Given the description of an element on the screen output the (x, y) to click on. 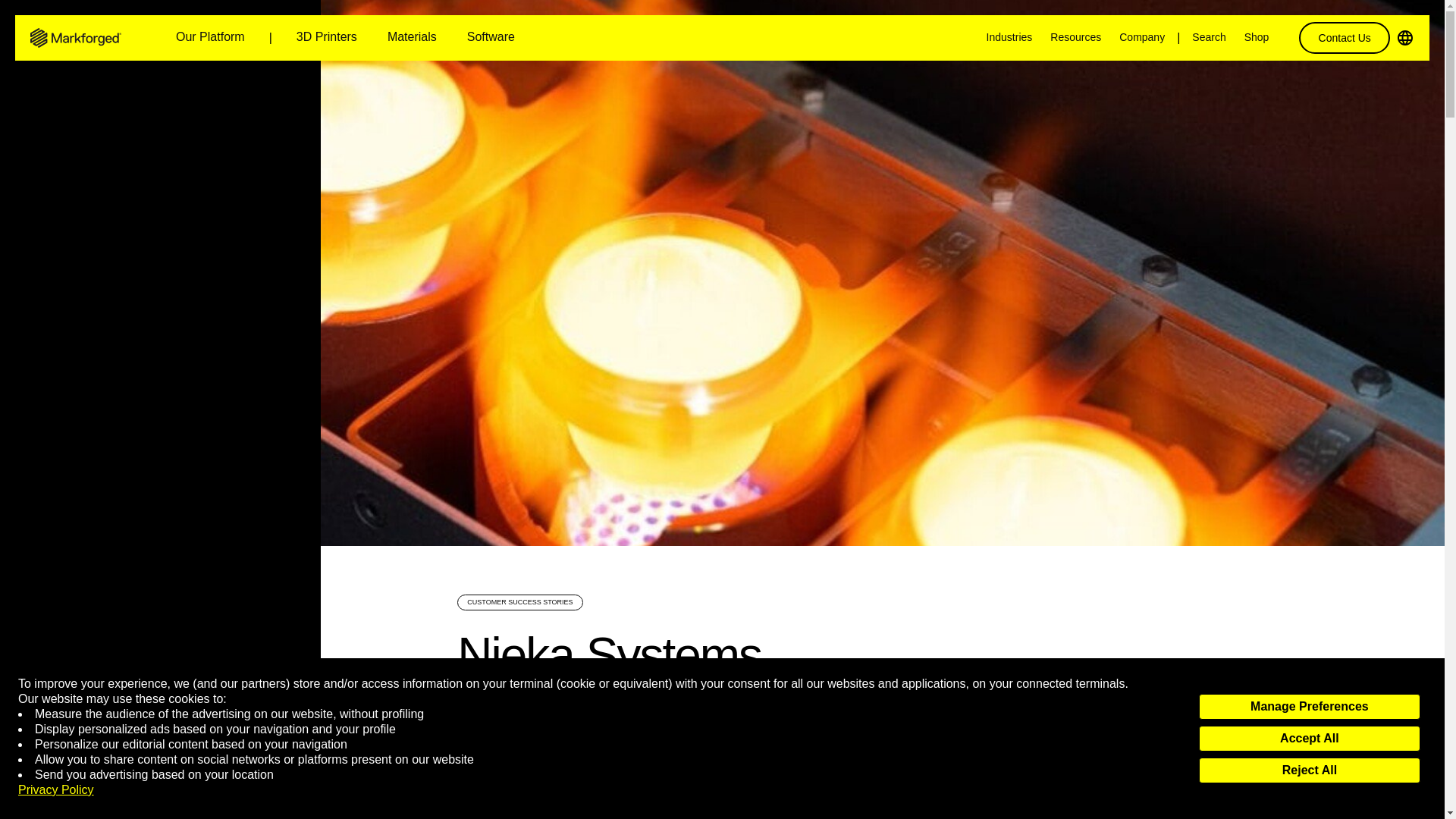
Privacy Policy (55, 789)
Materials (411, 37)
Accept All (1309, 738)
Manage Preferences (1309, 706)
Reject All (1309, 769)
Our Platform (210, 37)
3D Printers (325, 37)
